Given the description of an element on the screen output the (x, y) to click on. 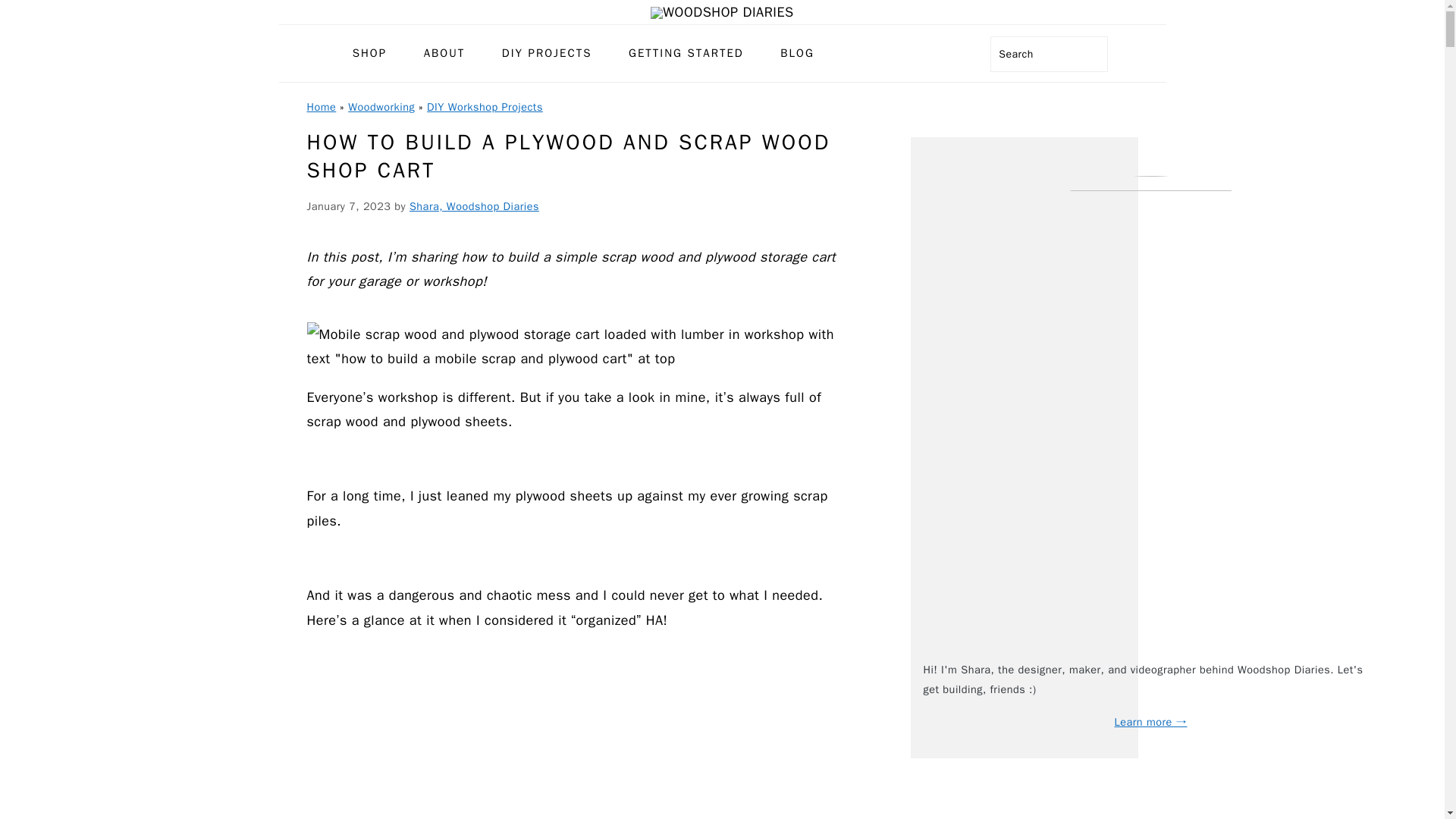
ABOUT (444, 53)
YouTube (943, 54)
Facebook (861, 54)
DIY PROJECTS (547, 53)
SHOP (369, 53)
Woodshop Diaries (721, 12)
YouTube (943, 53)
Woodshop Diaries (721, 12)
